Given the description of an element on the screen output the (x, y) to click on. 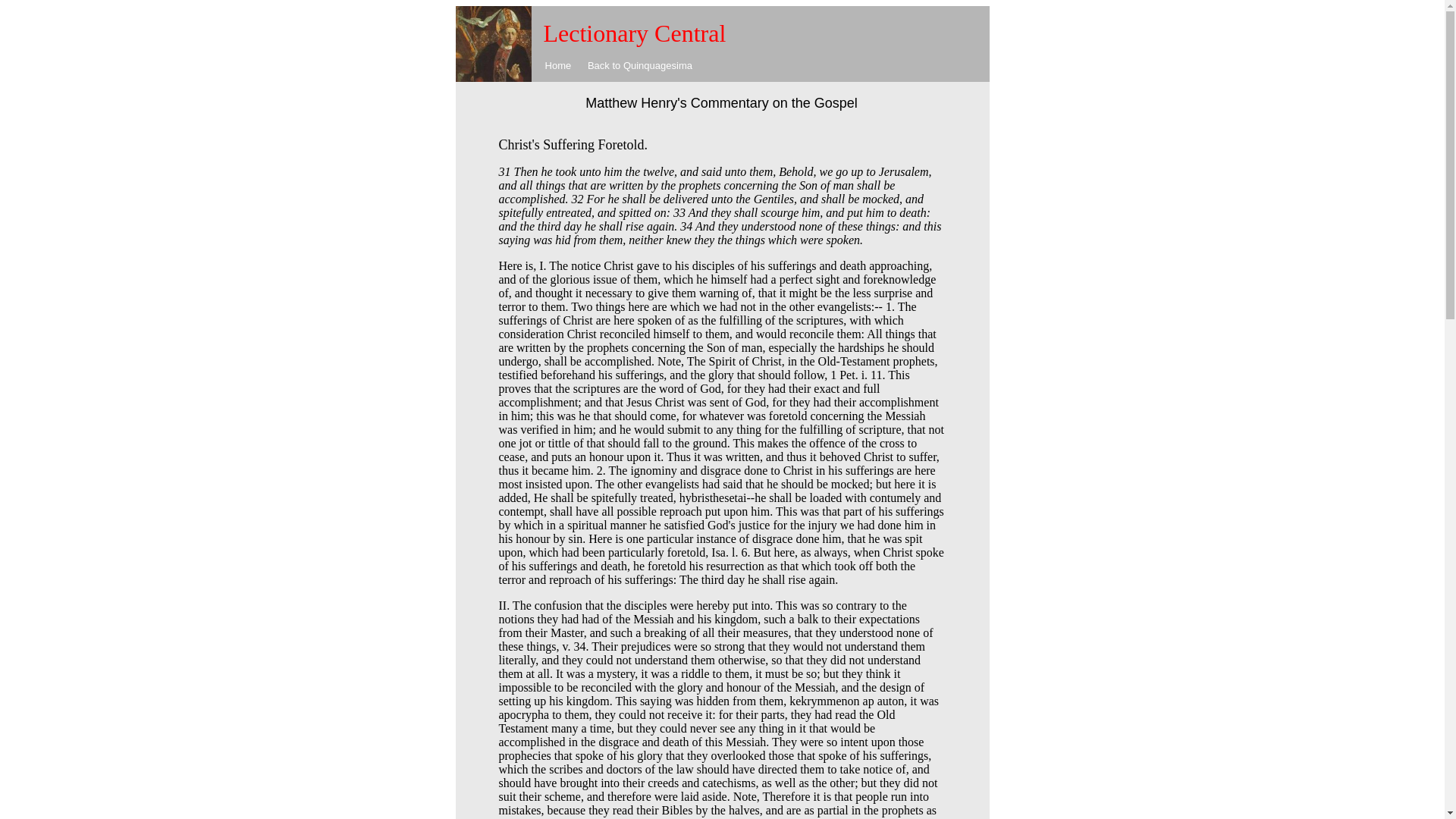
Home (558, 65)
Back to Quinquagesima (640, 65)
